Given the description of an element on the screen output the (x, y) to click on. 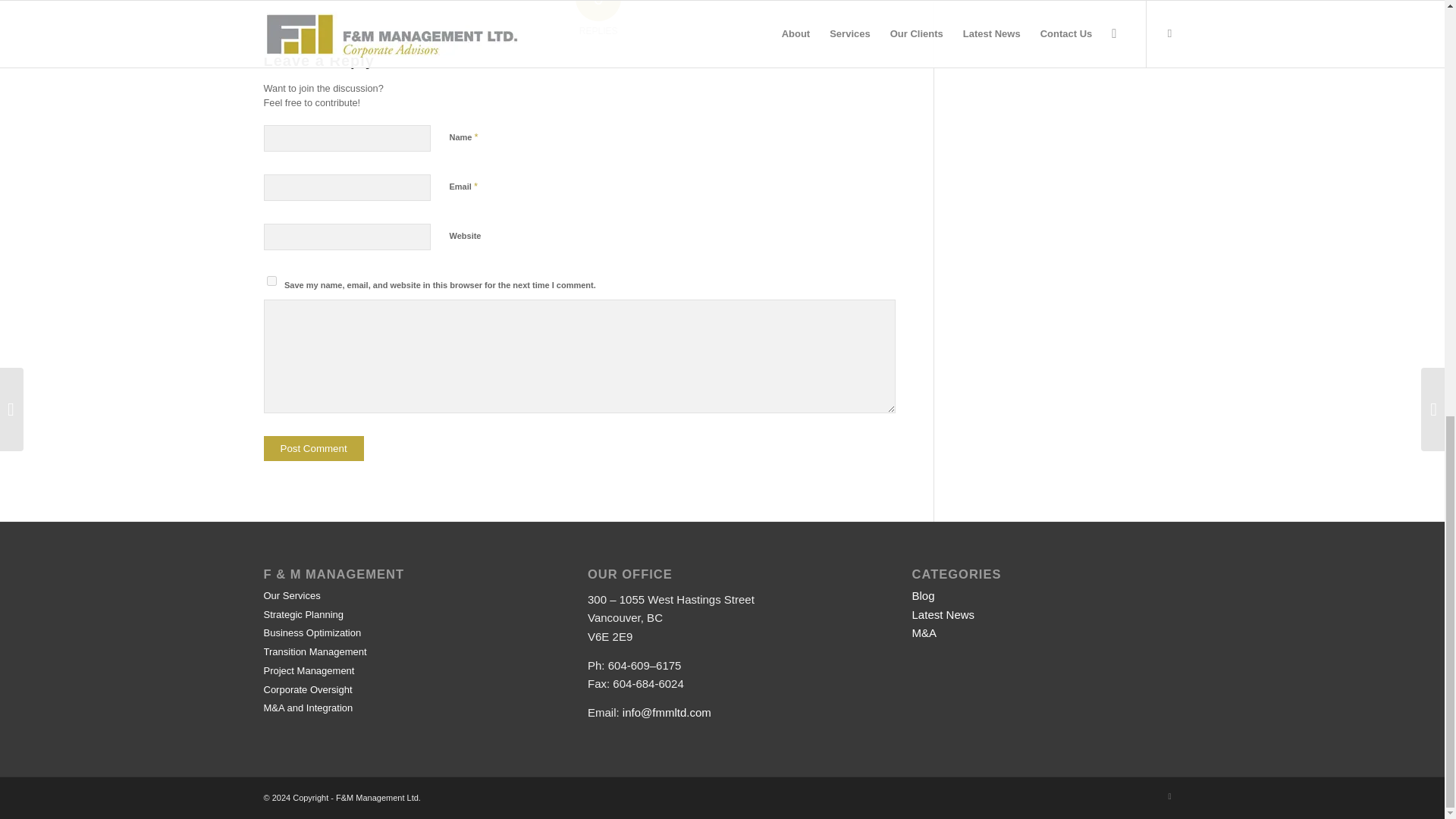
yes (271, 280)
Post Comment (313, 448)
Post Comment (313, 448)
